Given the description of an element on the screen output the (x, y) to click on. 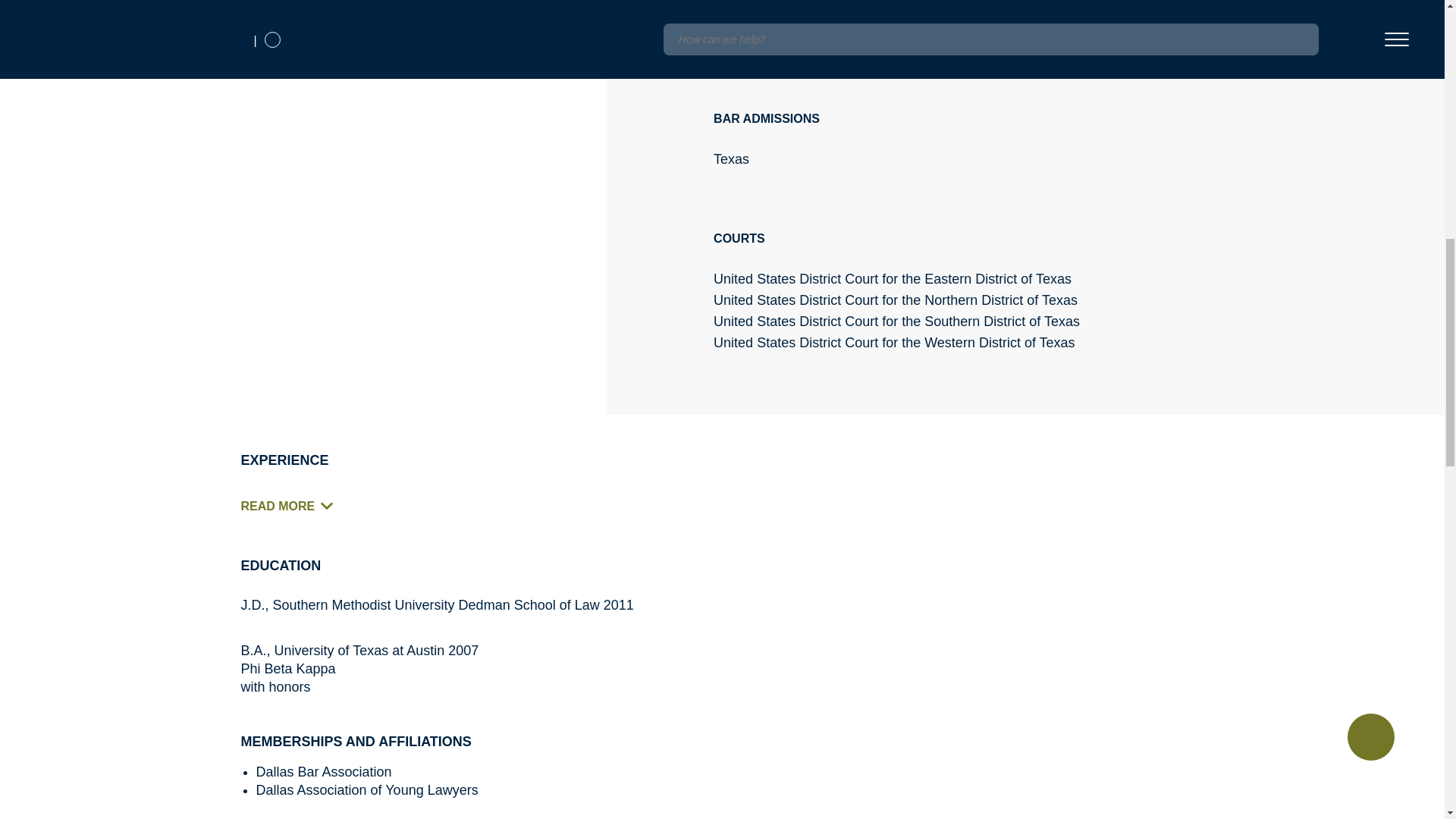
Healthcare (753, 9)
READ MORE (292, 507)
Litigation, Arbitration and Investigations (1029, 9)
Life Sciences (855, 9)
